Given the description of an element on the screen output the (x, y) to click on. 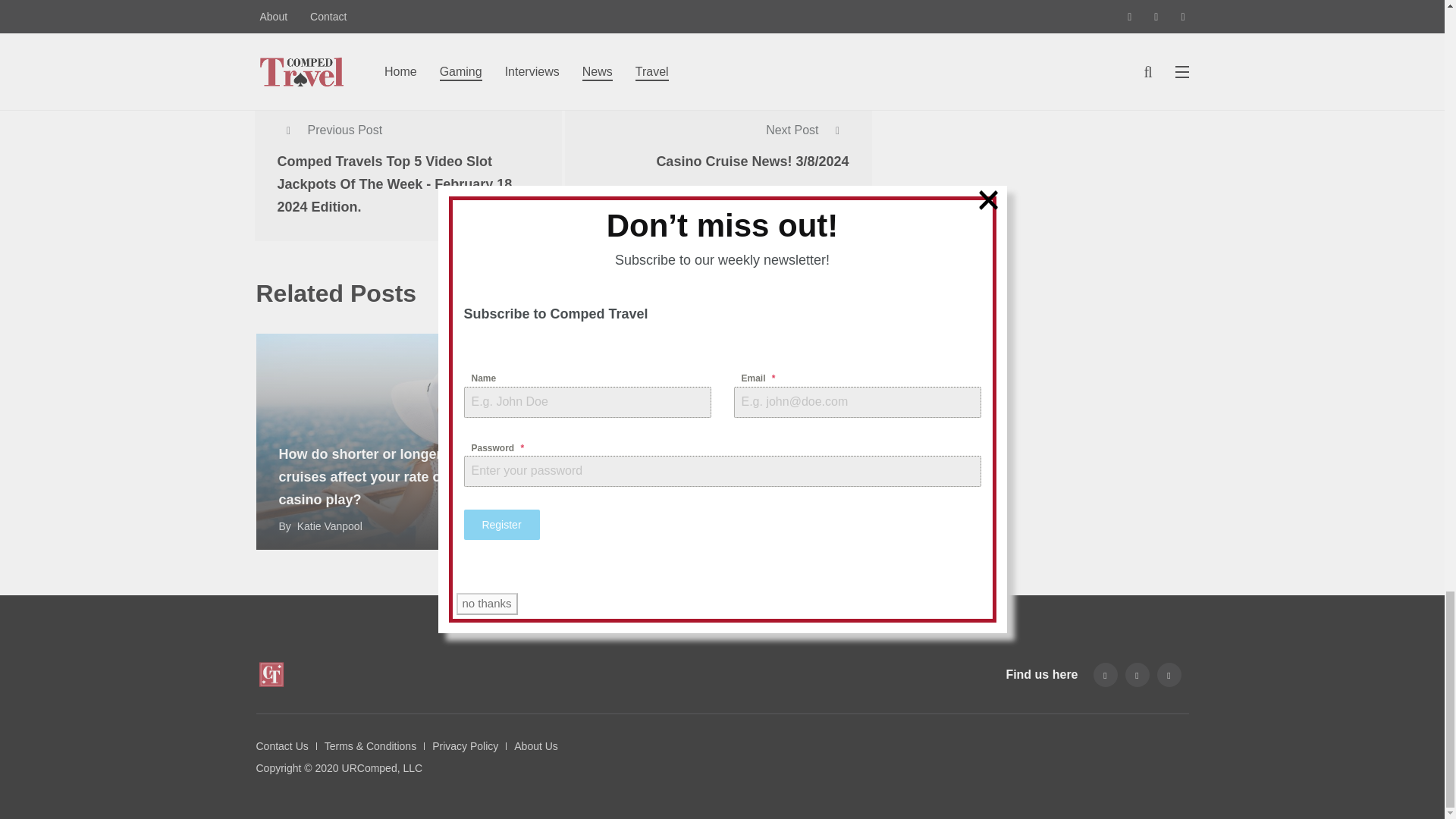
Post Comment (315, 31)
